Given the description of an element on the screen output the (x, y) to click on. 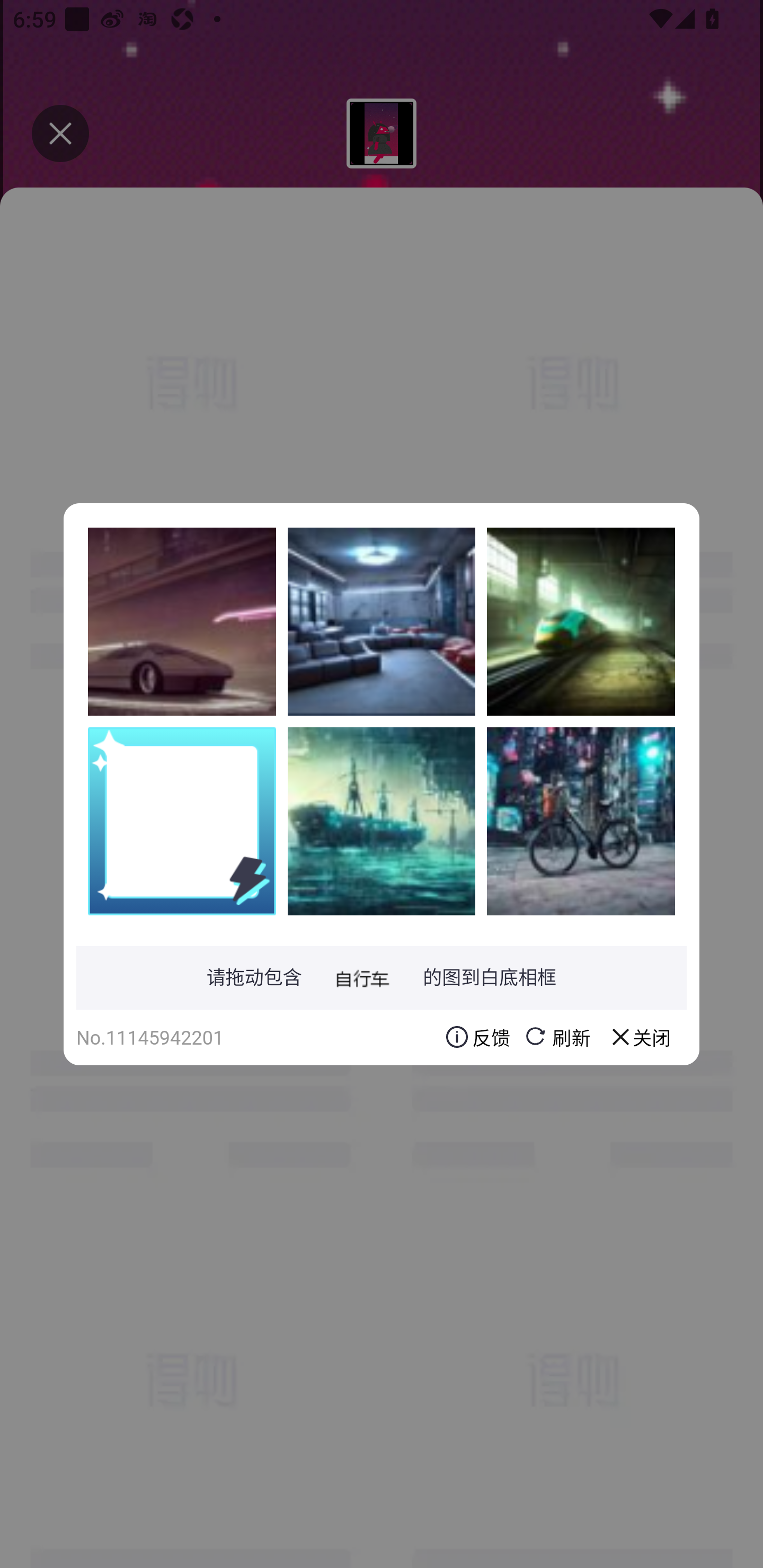
W (381, 820)
